Given the description of an element on the screen output the (x, y) to click on. 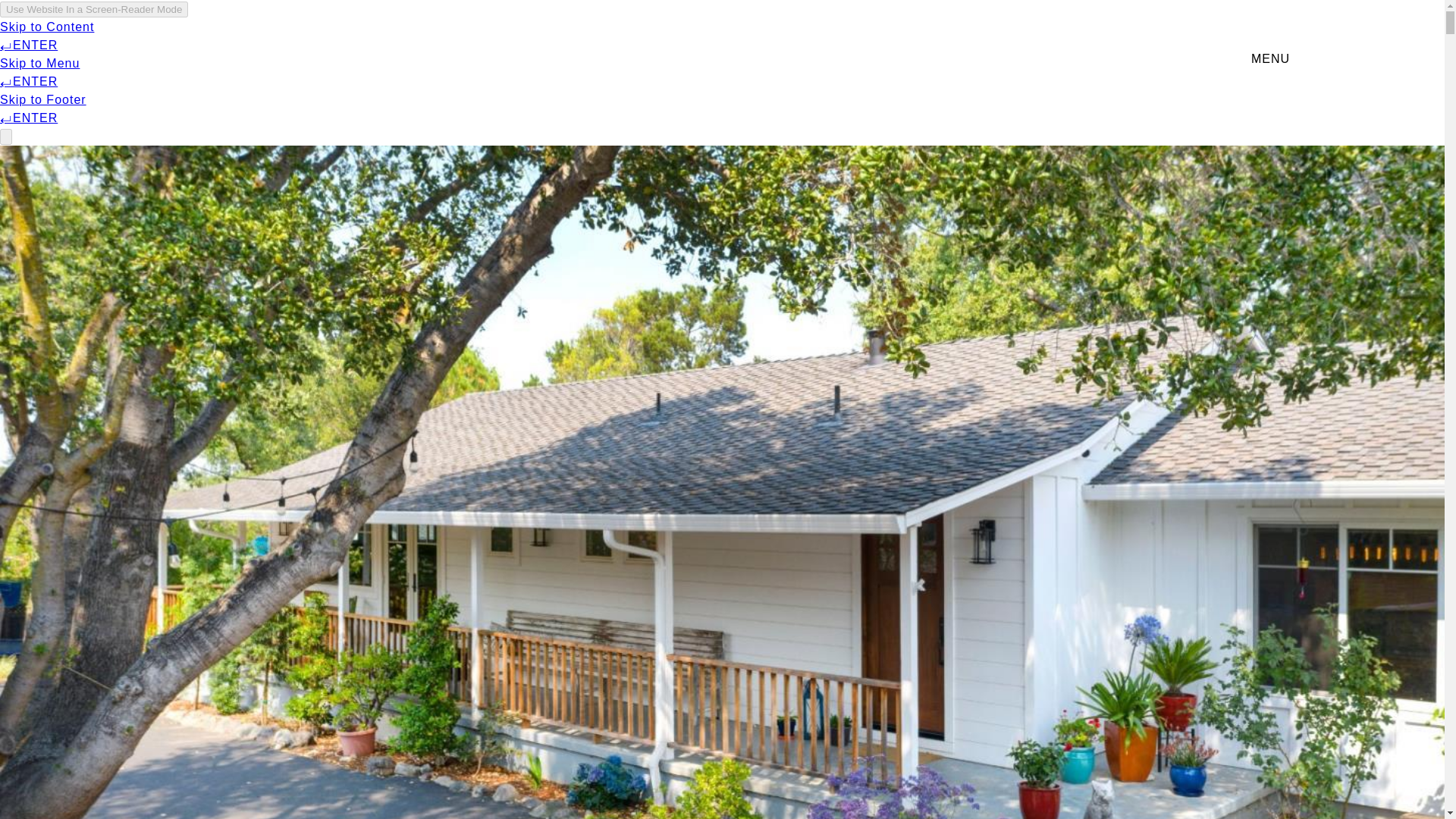
HOME SEARCH (1005, 59)
LET'S CONNECT (1156, 59)
MEET DENISE (727, 59)
PROPERTIES (864, 59)
